Given the description of an element on the screen output the (x, y) to click on. 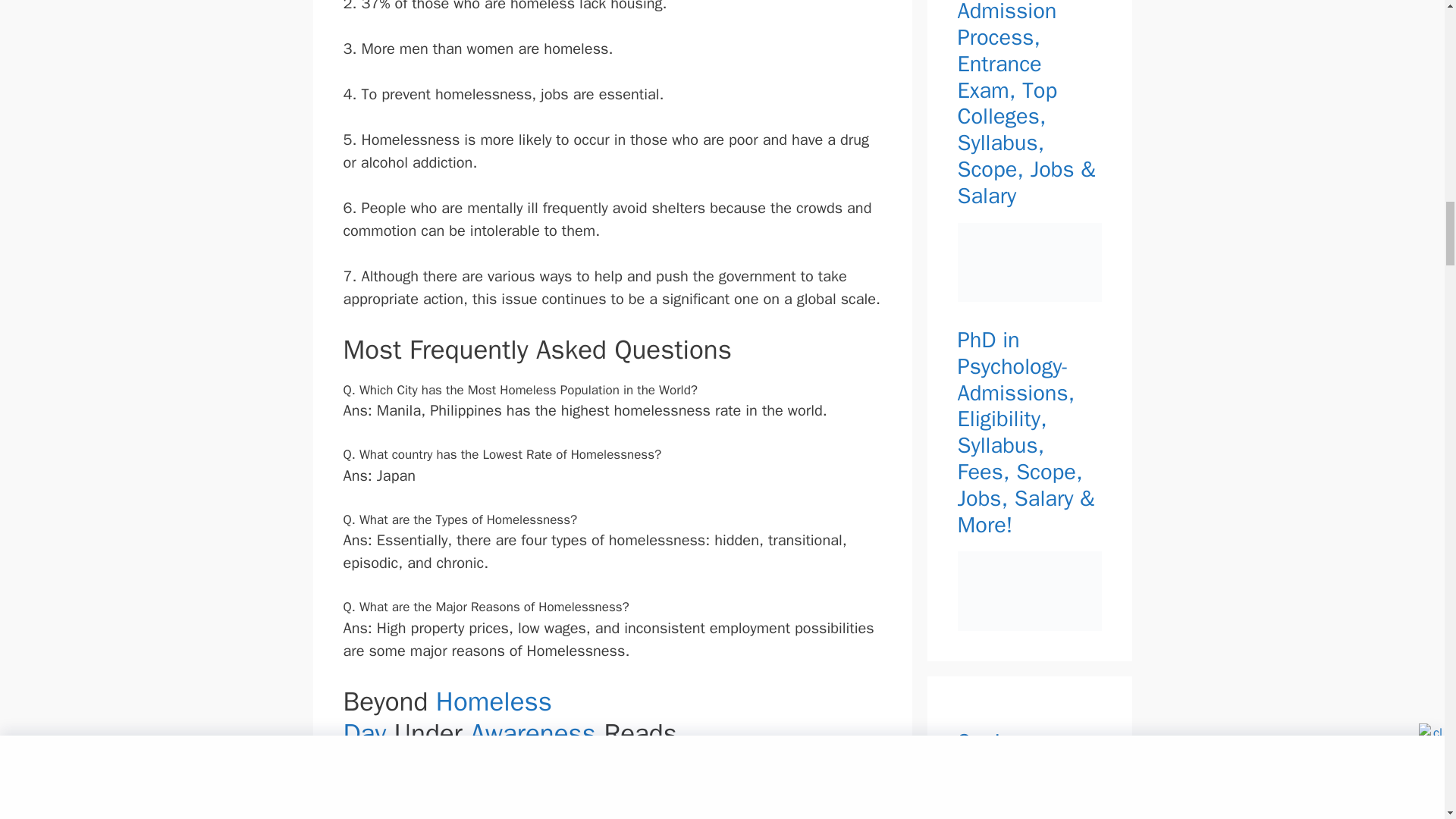
Homeless Day (446, 717)
Awareness (532, 733)
Rashtriya Ekta Diwas or National Unity Day 2022 (519, 811)
